Given the description of an element on the screen output the (x, y) to click on. 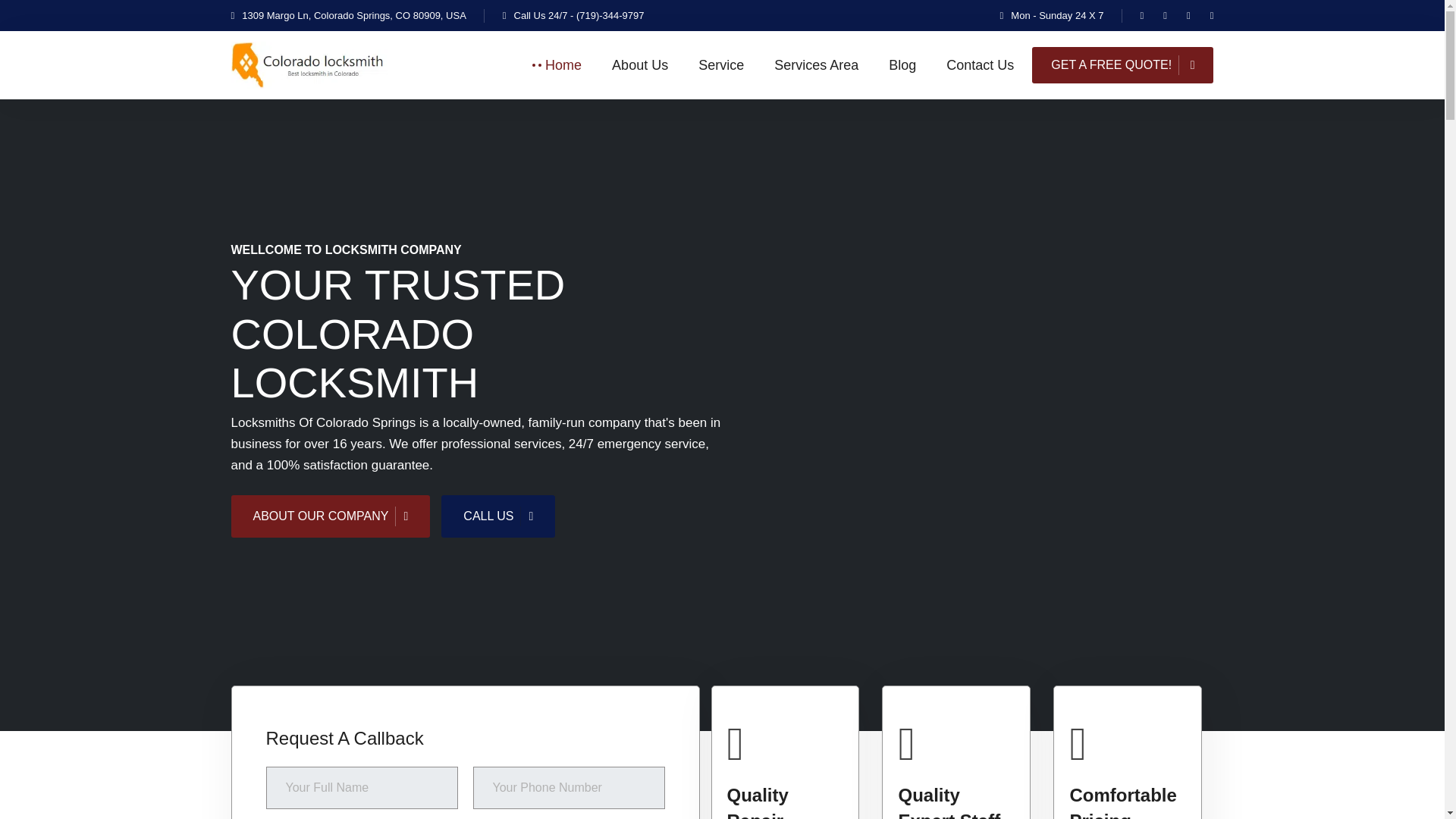
Home (562, 64)
CALL US (497, 516)
ABOUT OUR COMPANY (329, 516)
GET A FREE QUOTE! (1122, 64)
Contact Us (979, 64)
Services Area (816, 64)
Service (721, 64)
About Us (639, 64)
